Given the description of an element on the screen output the (x, y) to click on. 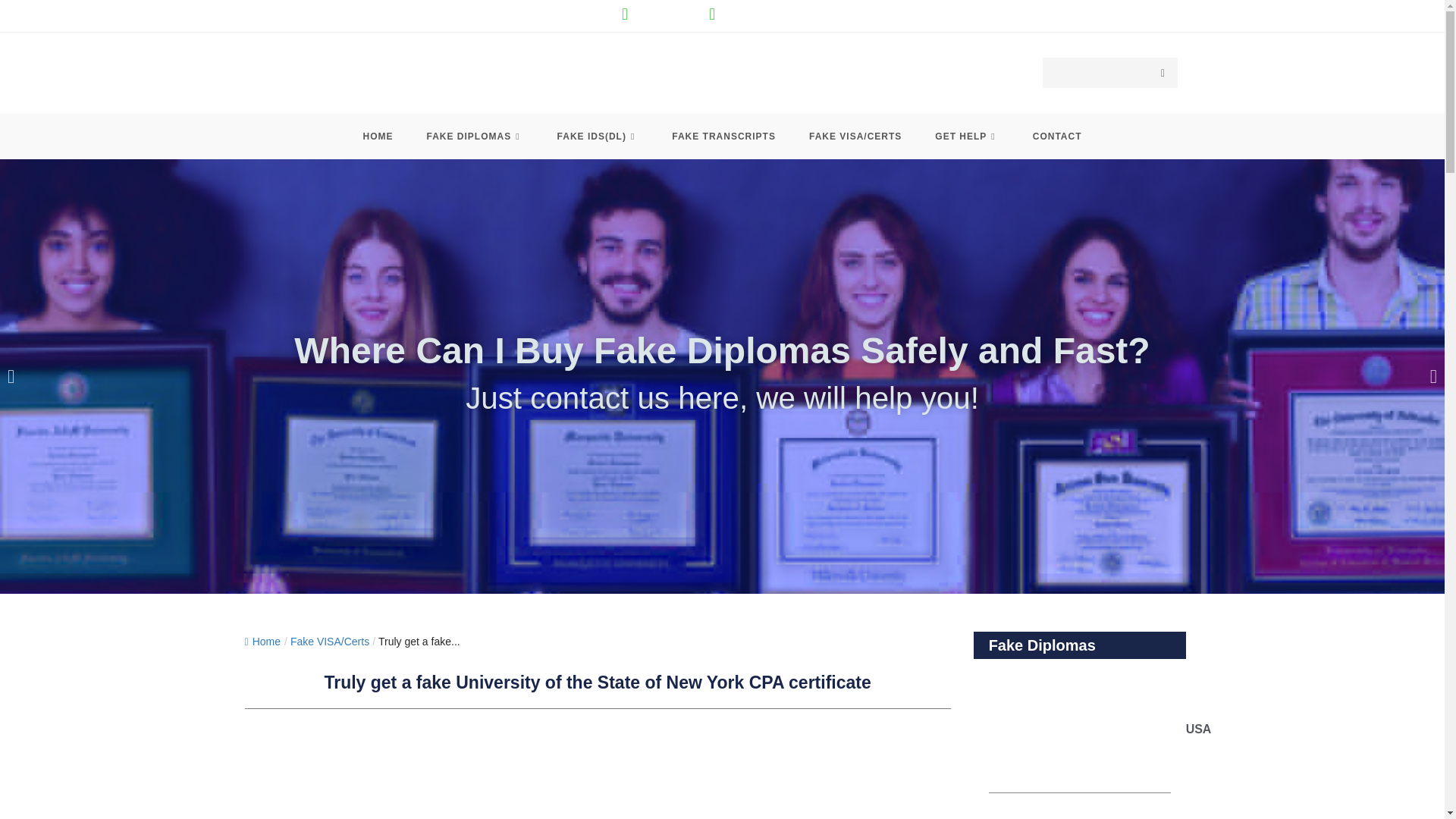
FAKE DIPLOMAS (474, 135)
CONTACT (1057, 135)
FAKE TRANSCRIPTS (723, 135)
Category Name (329, 641)
GET HELP (966, 135)
USNY CPA certificate (597, 768)
HOME (377, 135)
